Given the description of an element on the screen output the (x, y) to click on. 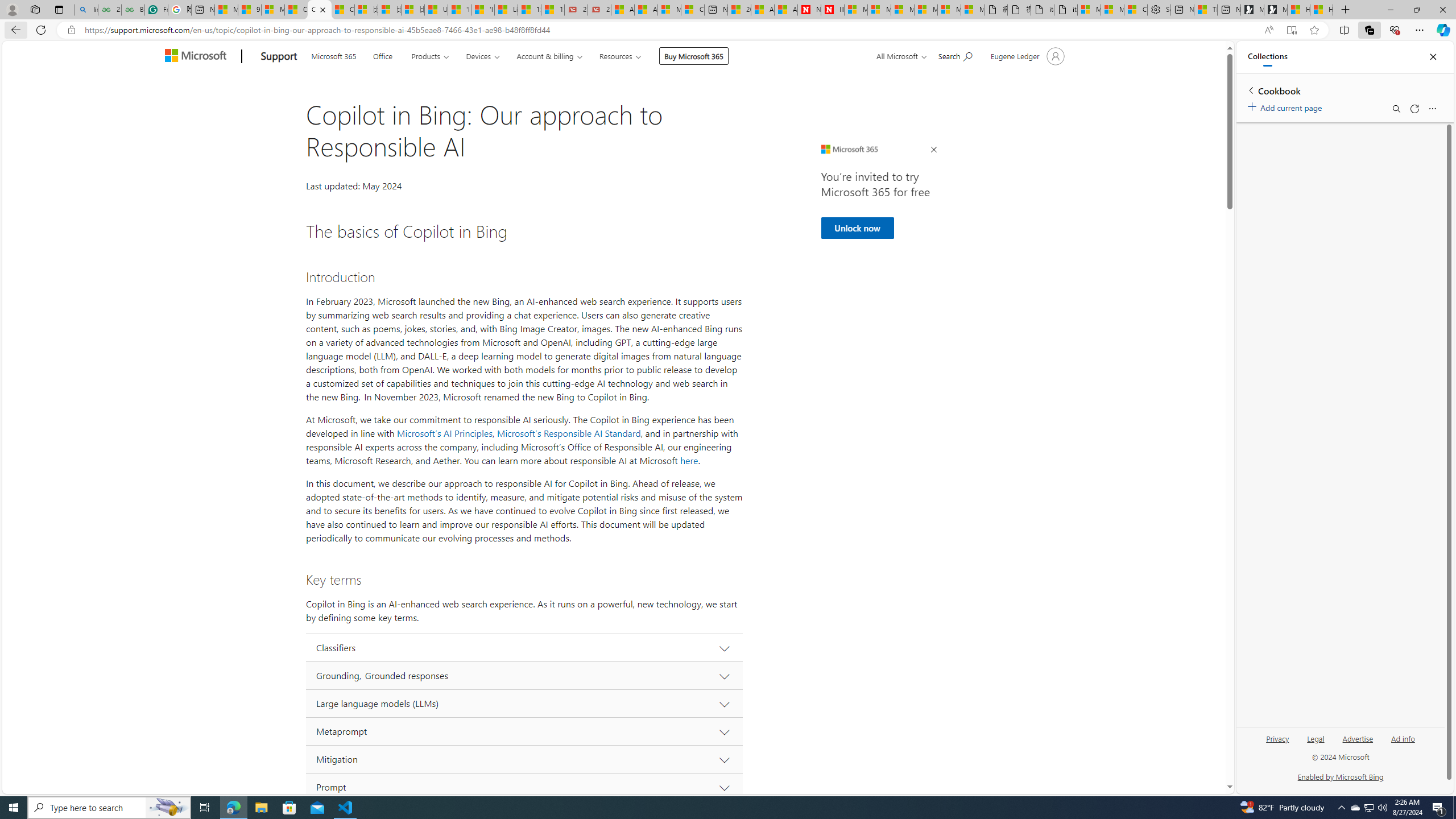
Add this page to favorites (Ctrl+D) (1314, 29)
Collections (1267, 56)
New Tab (1346, 9)
Personal Profile (12, 9)
Back (13, 29)
Read aloud this page (Ctrl+Shift+U) (1268, 29)
Browser essentials (1394, 29)
